Given the description of an element on the screen output the (x, y) to click on. 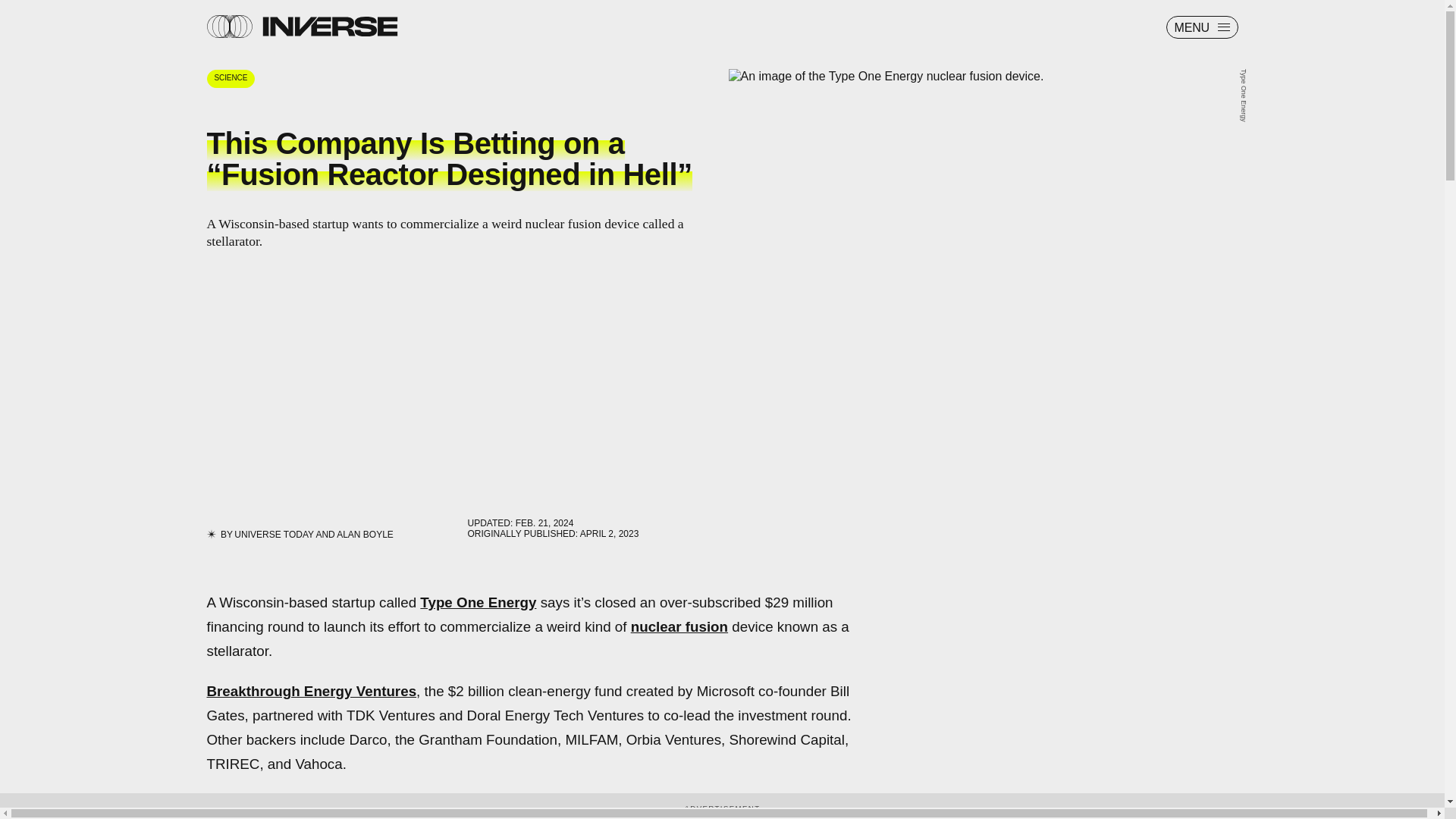
Inverse (328, 26)
Type One Energy (477, 602)
Breakthrough Energy Ventures (311, 691)
nuclear fusion (679, 626)
